Given the description of an element on the screen output the (x, y) to click on. 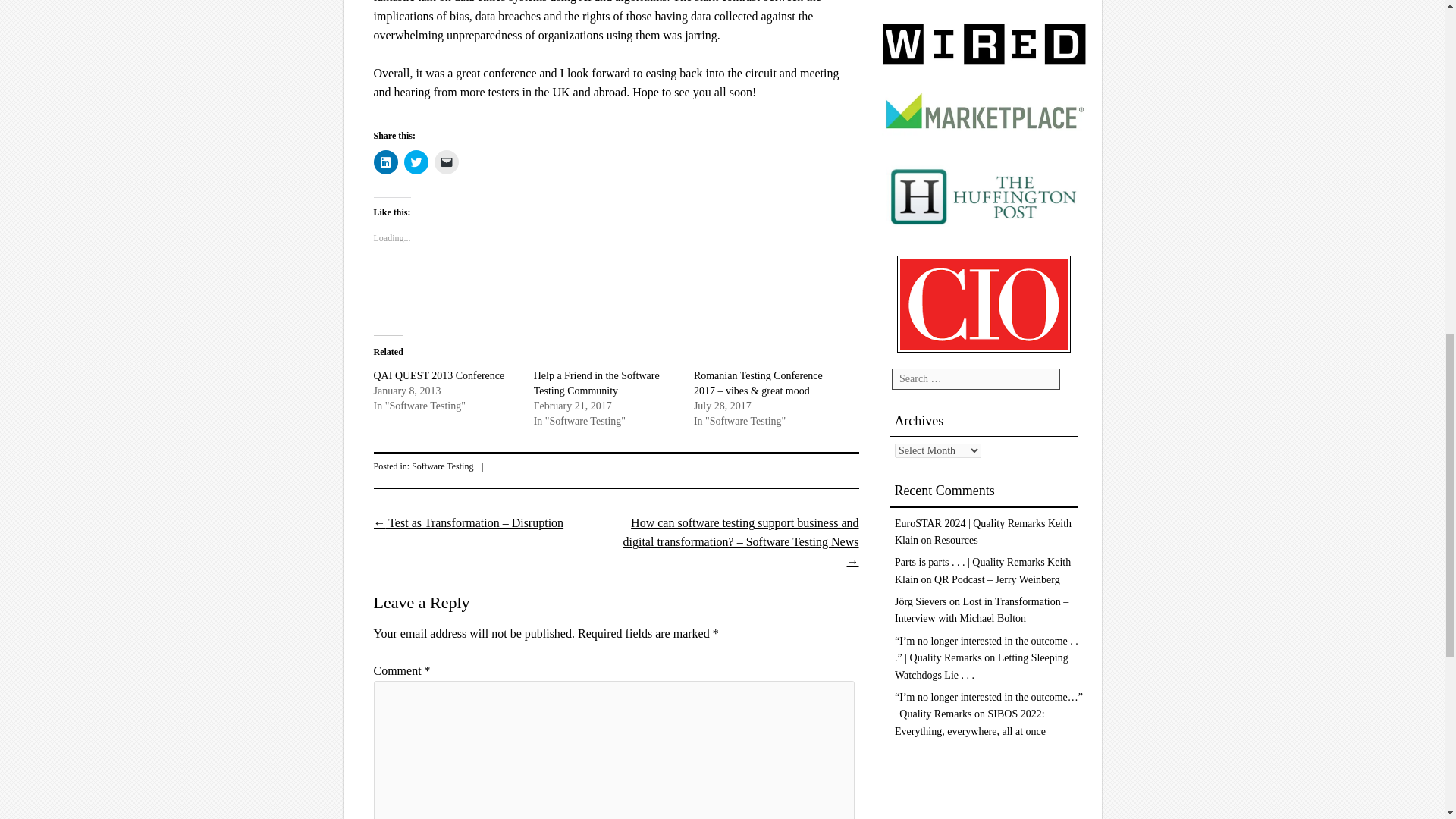
Software Testing (442, 466)
QAI QUEST 2013 Conference (437, 375)
Help a Friend in the Software Testing Community (596, 383)
Like or Reblog (615, 290)
Click to share on Twitter (415, 161)
talk (426, 1)
Help a Friend in the Software Testing Community (596, 383)
QAI QUEST 2013 Conference (437, 375)
Click to share on LinkedIn (384, 161)
Click to email a link to a friend (445, 161)
